Given the description of an element on the screen output the (x, y) to click on. 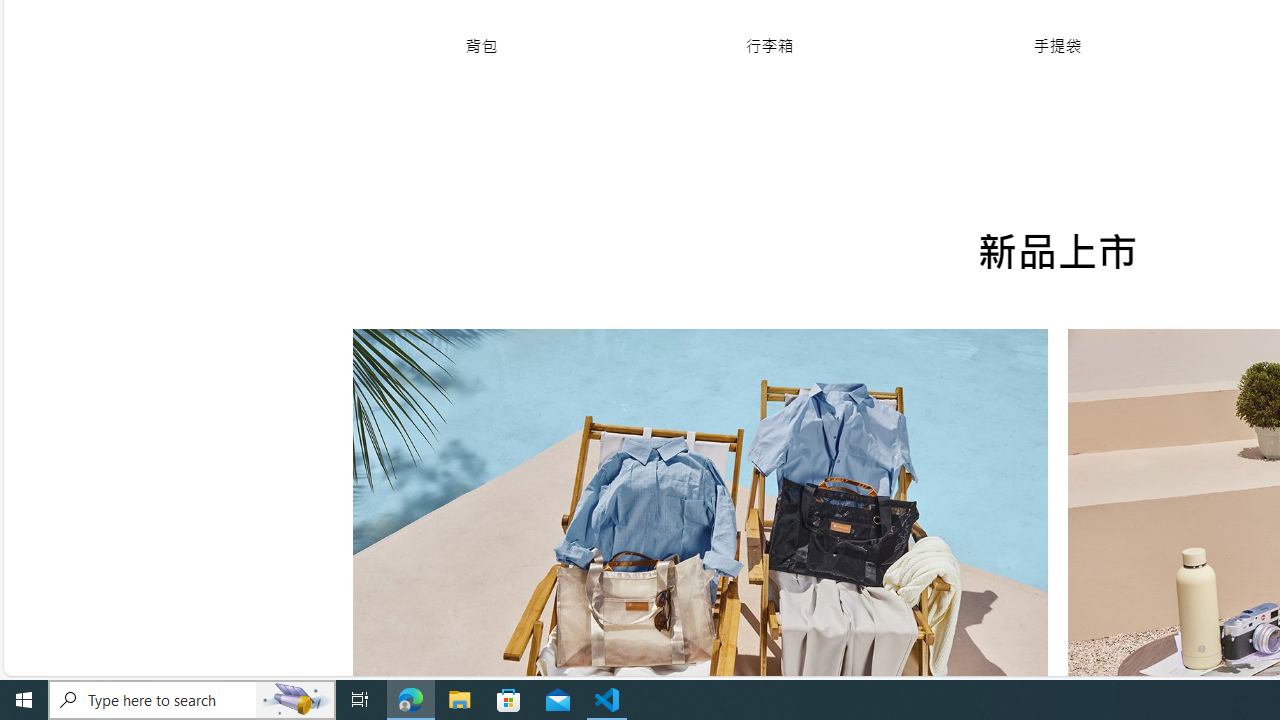
Class: flickity-button-icon (395, 561)
Previous (395, 651)
